Given the description of an element on the screen output the (x, y) to click on. 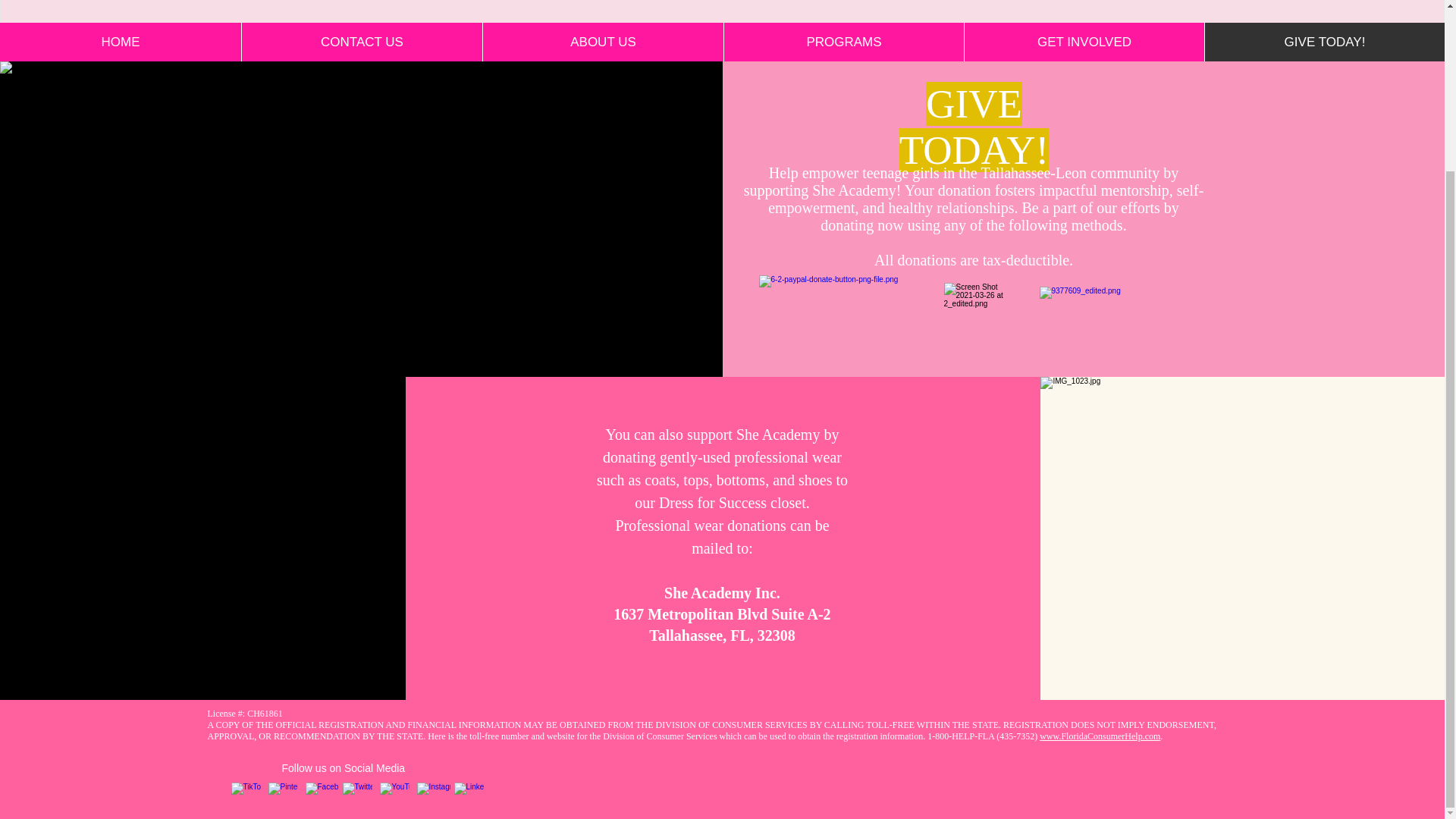
HOME (120, 41)
ABOUT US (602, 41)
PROGRAMS (843, 41)
CONTACT US (361, 41)
www.FloridaConsumerHelp.com (1099, 736)
GET INVOLVED (1083, 41)
